Given the description of an element on the screen output the (x, y) to click on. 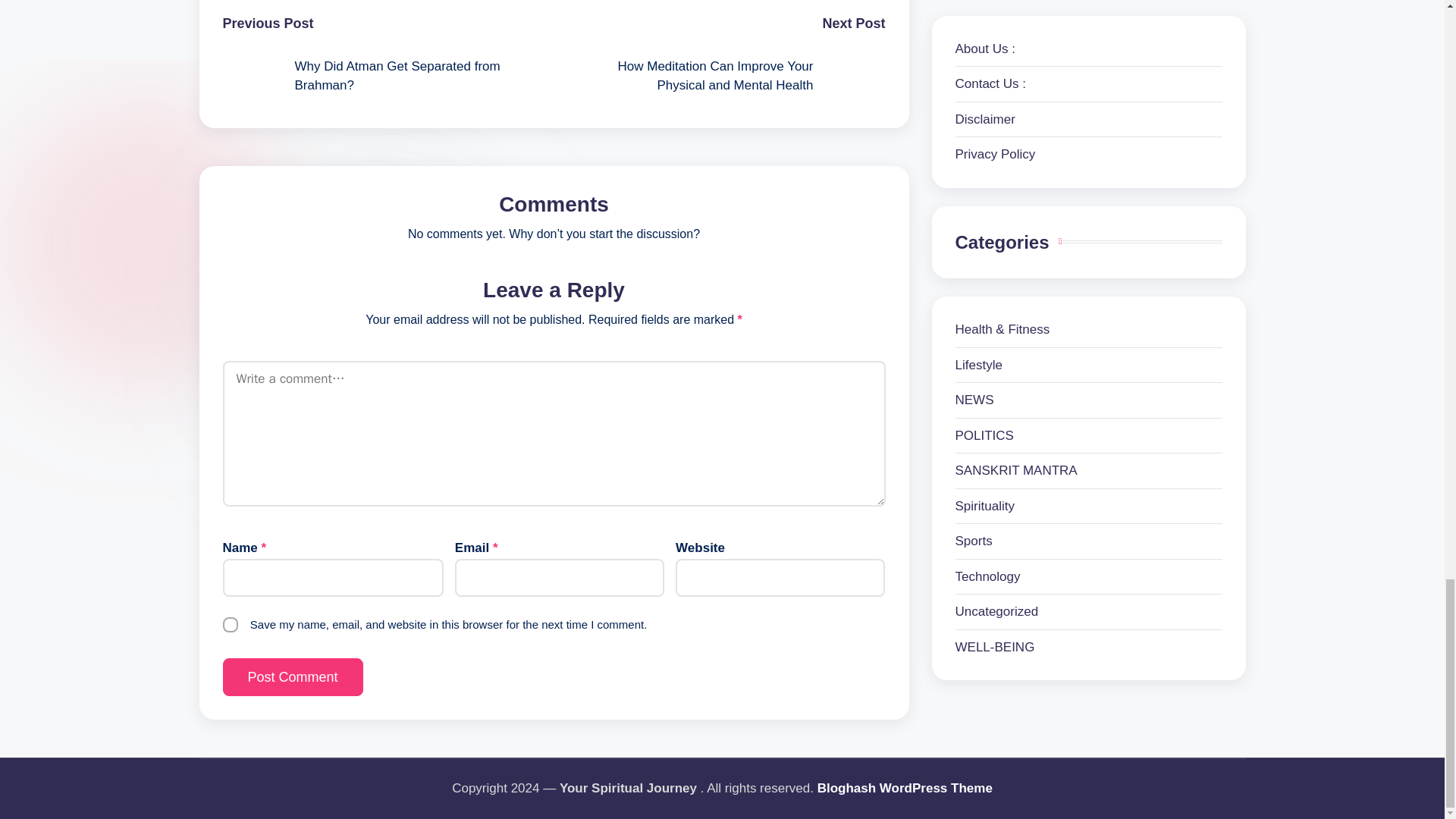
Why Did Atman Get Separated from Brahman? (388, 75)
Post Comment (292, 677)
Post Comment (292, 677)
How Meditation Can Improve Your Physical and Mental Health (719, 75)
yes (230, 624)
